Given the description of an element on the screen output the (x, y) to click on. 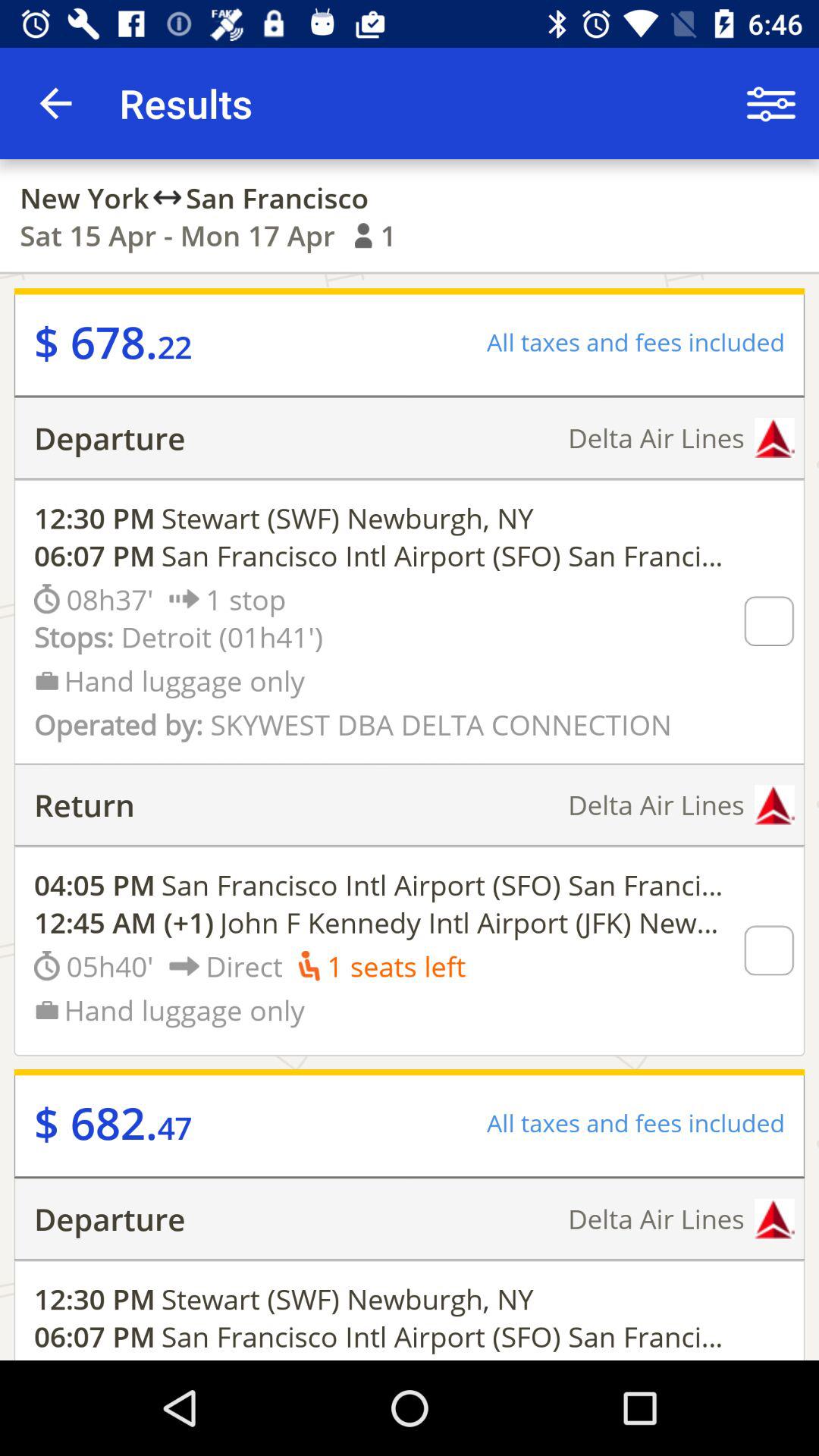
choose the icon to the left of the results item (55, 103)
